Given the description of an element on the screen output the (x, y) to click on. 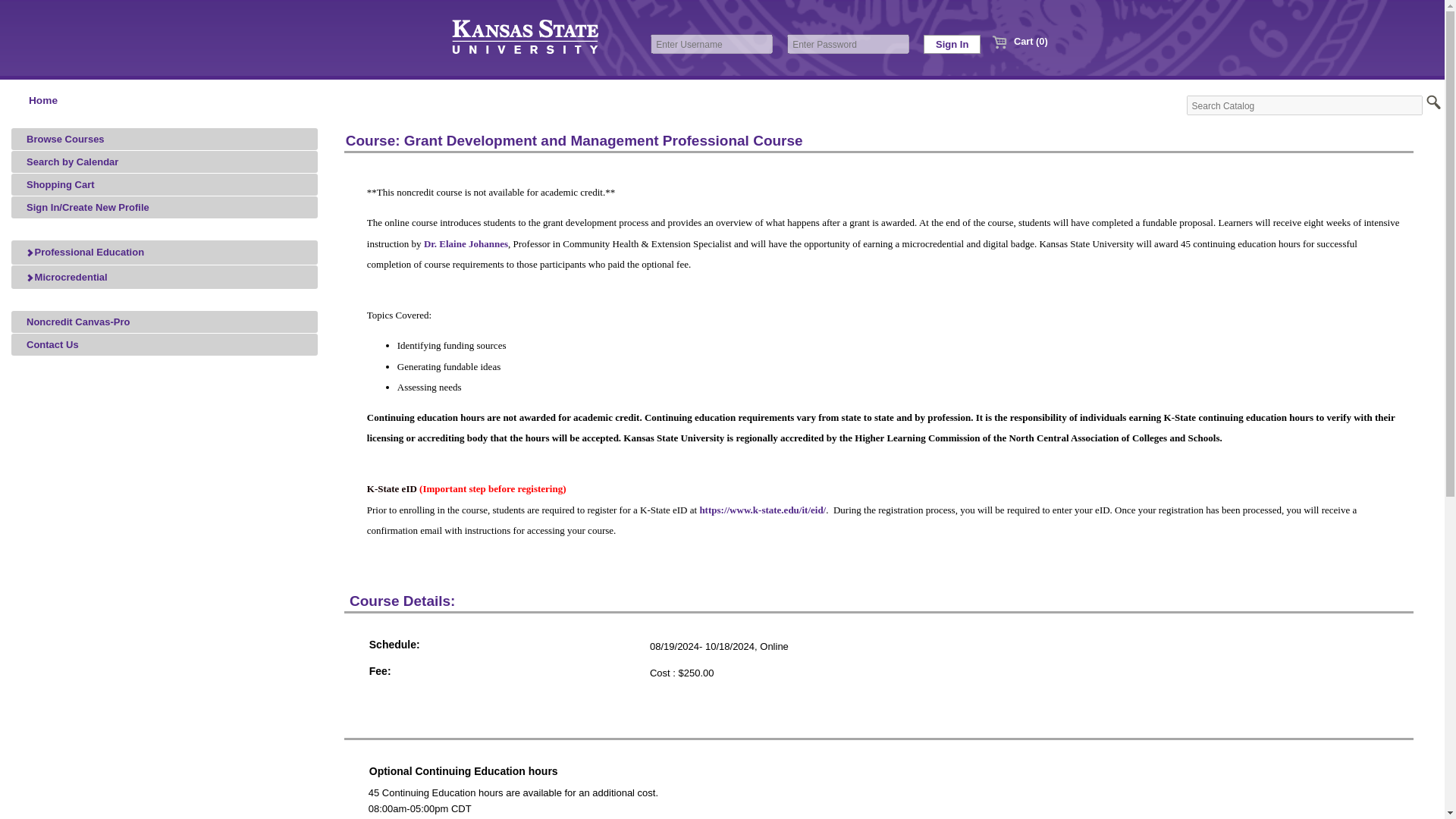
Microcredential (164, 277)
Enter Username (711, 44)
Search by Calendar (164, 161)
Professional Education (164, 252)
Noncredit Canvas-Pro (164, 321)
Home (42, 100)
Enter Password (847, 44)
Dr. Elaine Johannes (465, 239)
Sign In (951, 44)
Browse Courses (164, 138)
